Given the description of an element on the screen output the (x, y) to click on. 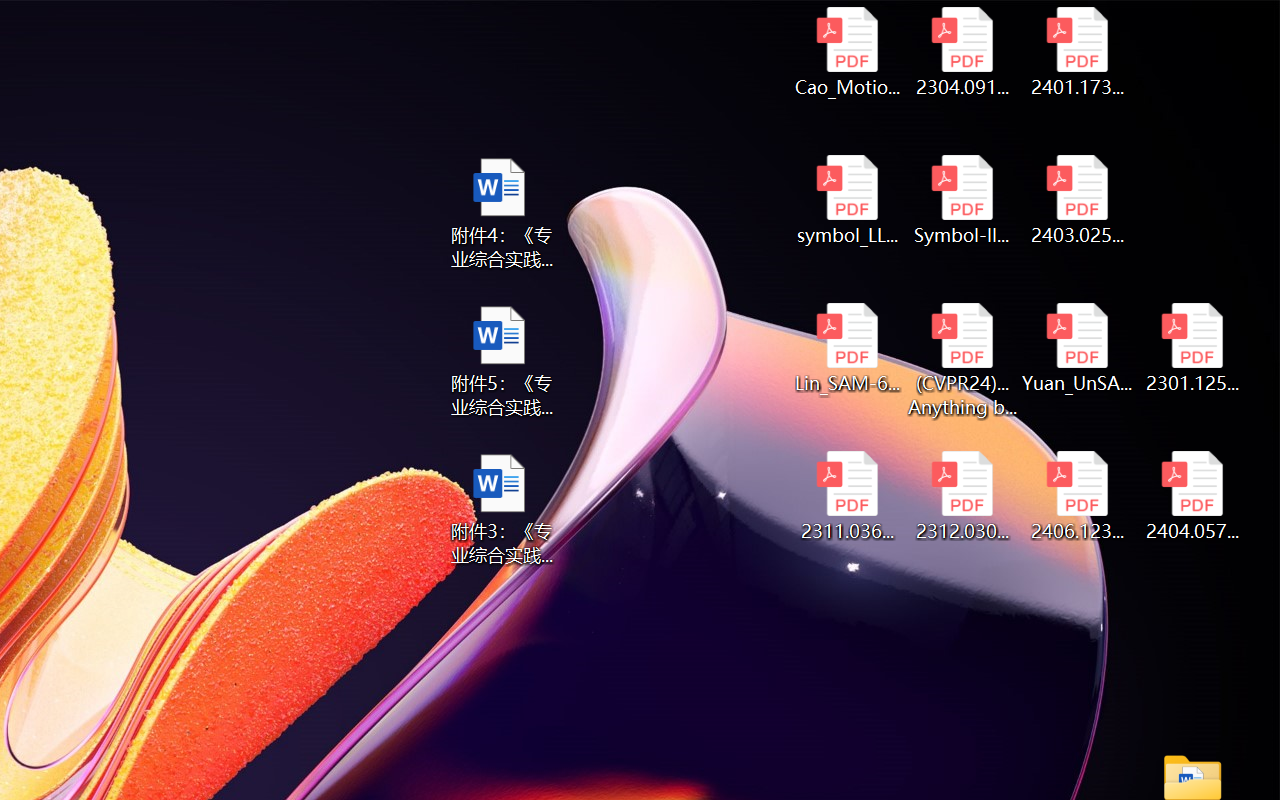
(CVPR24)Matching Anything by Segmenting Anything.pdf (962, 360)
symbol_LLM.pdf (846, 200)
2311.03658v2.pdf (846, 496)
2401.17399v1.pdf (1077, 52)
2312.03032v2.pdf (962, 496)
Symbol-llm-v2.pdf (962, 200)
2404.05719v1.pdf (1192, 496)
2301.12597v3.pdf (1192, 348)
2403.02502v1.pdf (1077, 200)
